Given the description of an element on the screen output the (x, y) to click on. 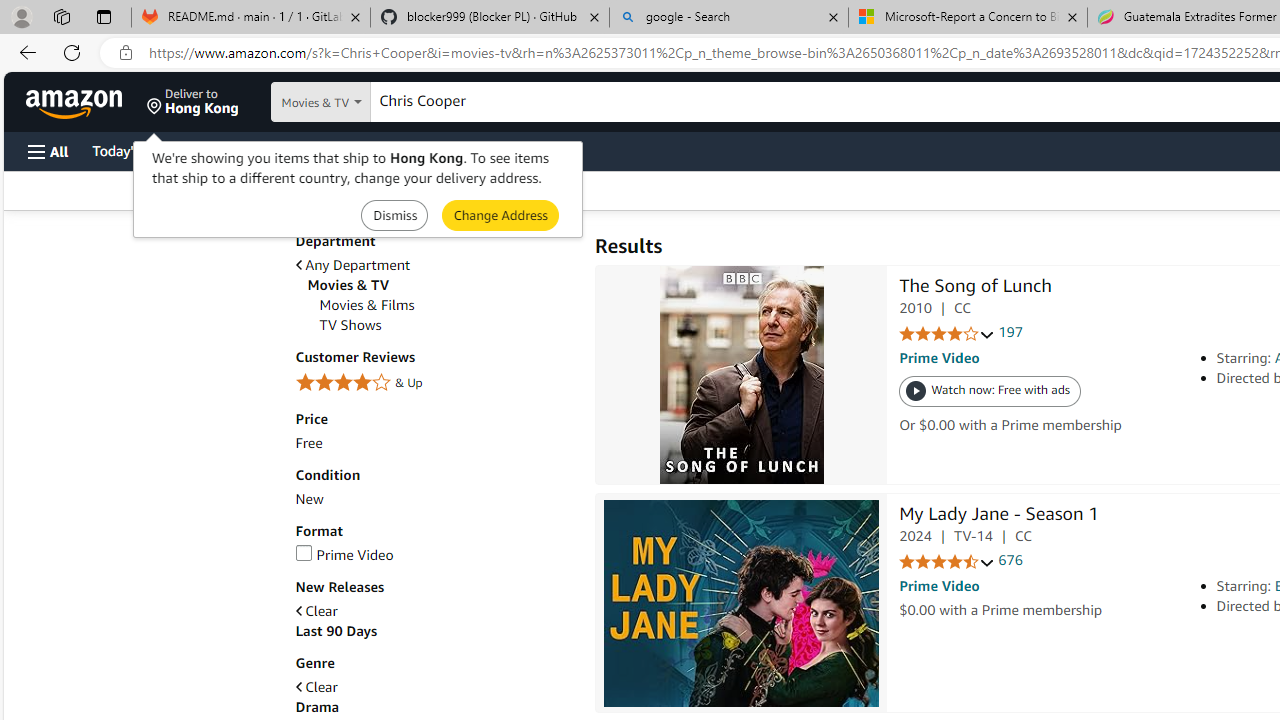
TV Shows (349, 325)
Registry (360, 150)
Clear (315, 687)
4.0 out of 5 stars (946, 334)
Movies & TV (440, 285)
Drama (434, 707)
Drama (317, 707)
